Given the description of an element on the screen output the (x, y) to click on. 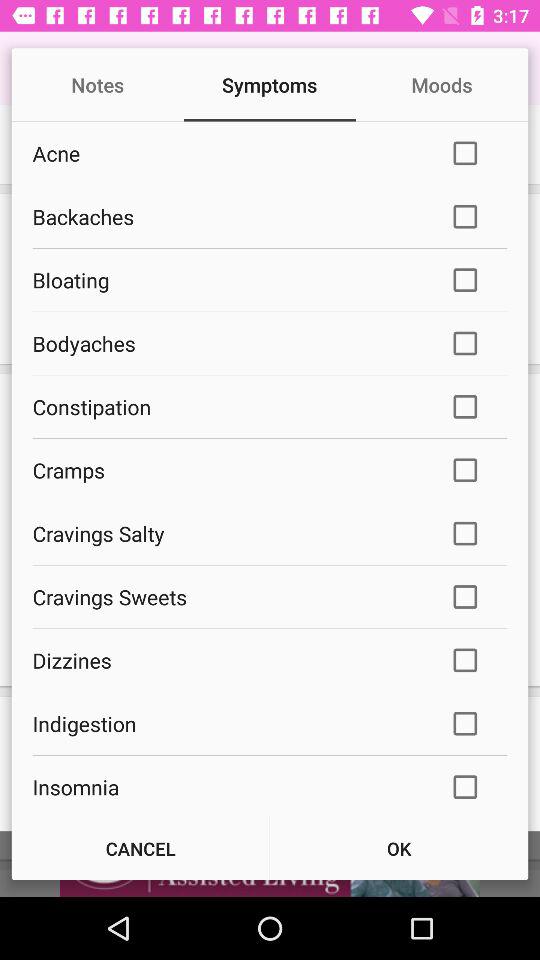
select the indigestion icon (227, 723)
